Given the description of an element on the screen output the (x, y) to click on. 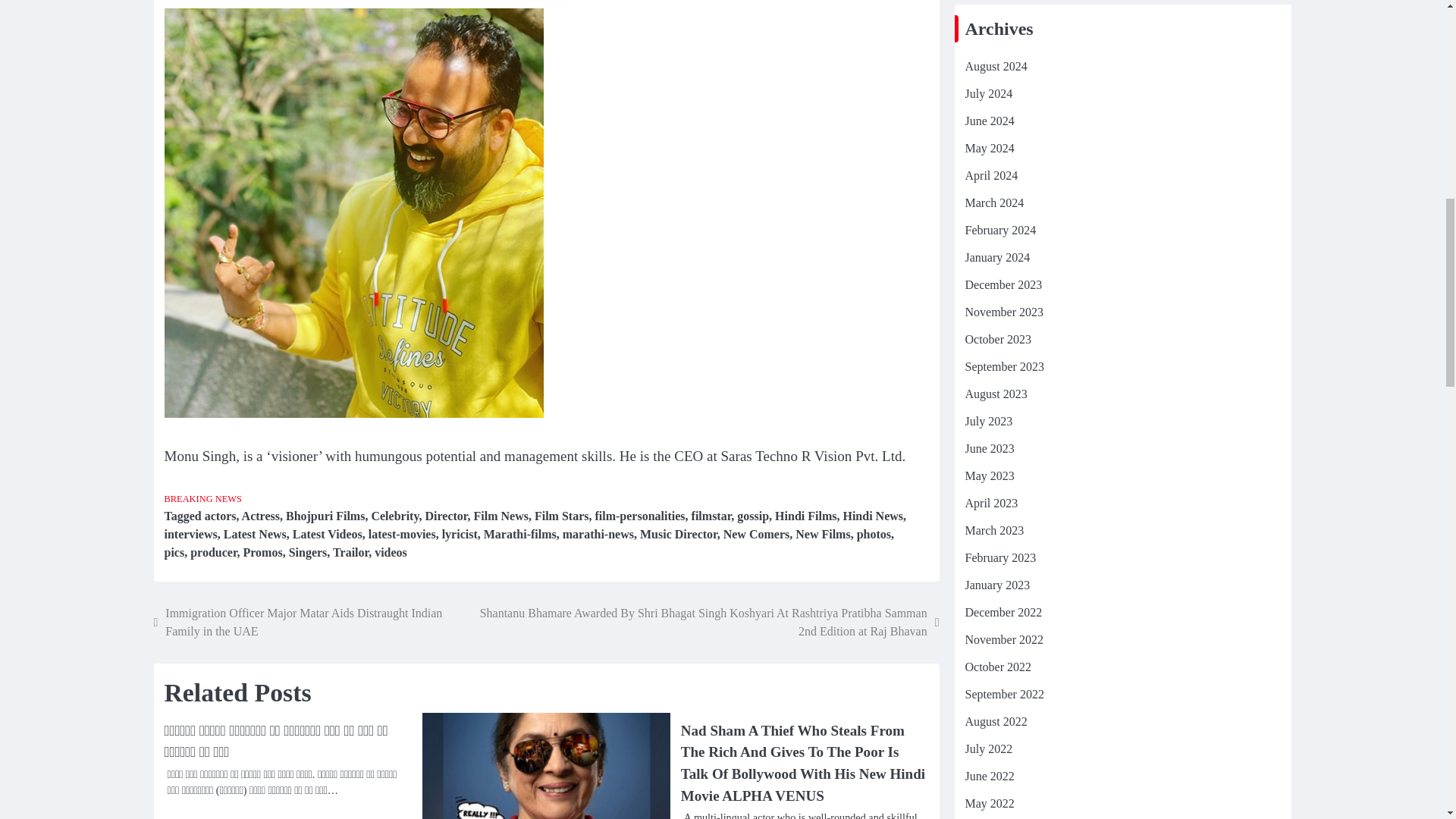
Latest News (255, 533)
Film Stars (561, 515)
Hindi Films (804, 515)
Celebrity (395, 515)
Hindi News (872, 515)
marathi-news (597, 533)
New Comers (756, 533)
Director (446, 515)
Latest Videos (327, 533)
latest-movies (401, 533)
